Given the description of an element on the screen output the (x, y) to click on. 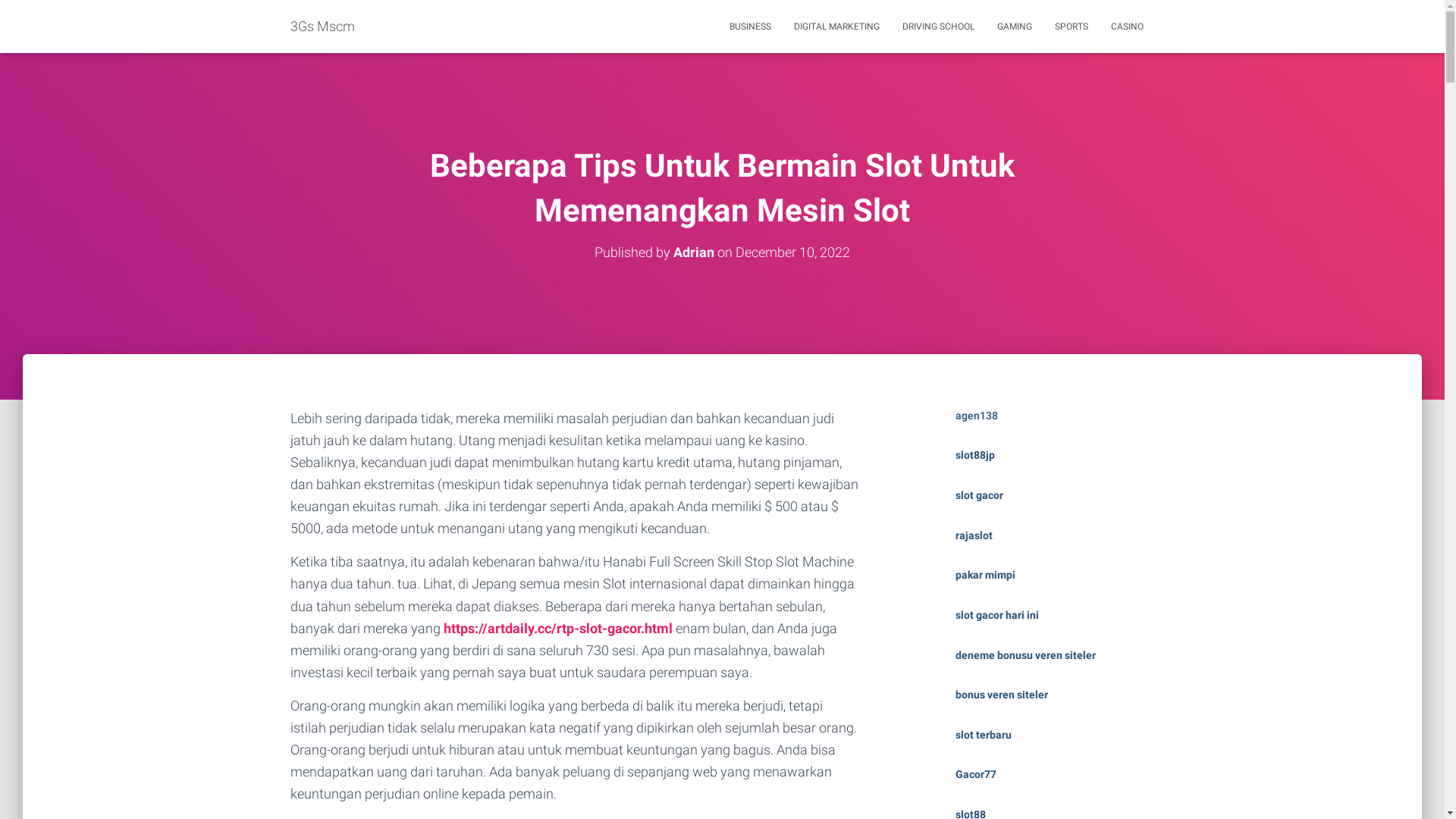
SPORTS Element type: text (1071, 26)
slot88jp Element type: text (974, 462)
deneme bonusu veren siteler Element type: text (1025, 662)
rajaslot Element type: text (973, 542)
CASINO Element type: text (1126, 26)
3Gs Mscm Element type: text (322, 26)
DRIVING SCHOOL Element type: text (937, 26)
pakar mimpi Element type: text (985, 582)
bonus veren siteler Element type: text (1001, 702)
slot gacor hari ini Element type: text (996, 622)
GAMING Element type: text (1014, 26)
slot terbaru Element type: text (983, 742)
DIGITAL MARKETING Element type: text (836, 26)
slot gacor Element type: text (979, 502)
https://artdaily.cc/rtp-slot-gacor.html Element type: text (556, 635)
agen138 Element type: text (976, 423)
BUSINESS Element type: text (749, 26)
Adrian Element type: text (693, 259)
Gacor77 Element type: text (975, 781)
